Given the description of an element on the screen output the (x, y) to click on. 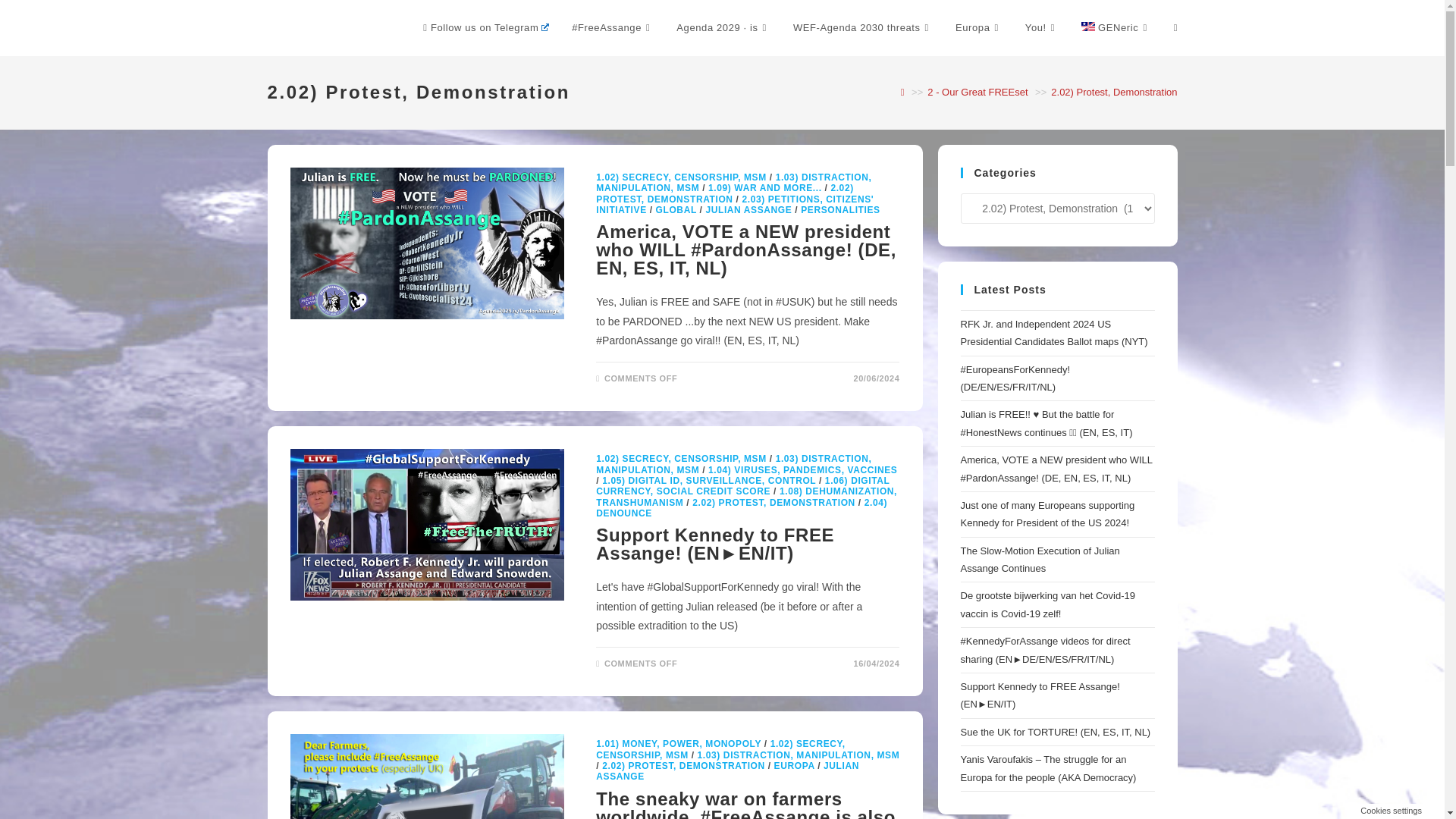
WEF-Agenda 2030 threats (862, 28)
GENeric (1115, 28)
Europa (978, 28)
You! (1041, 28)
GENeric (1115, 28)
